Given the description of an element on the screen output the (x, y) to click on. 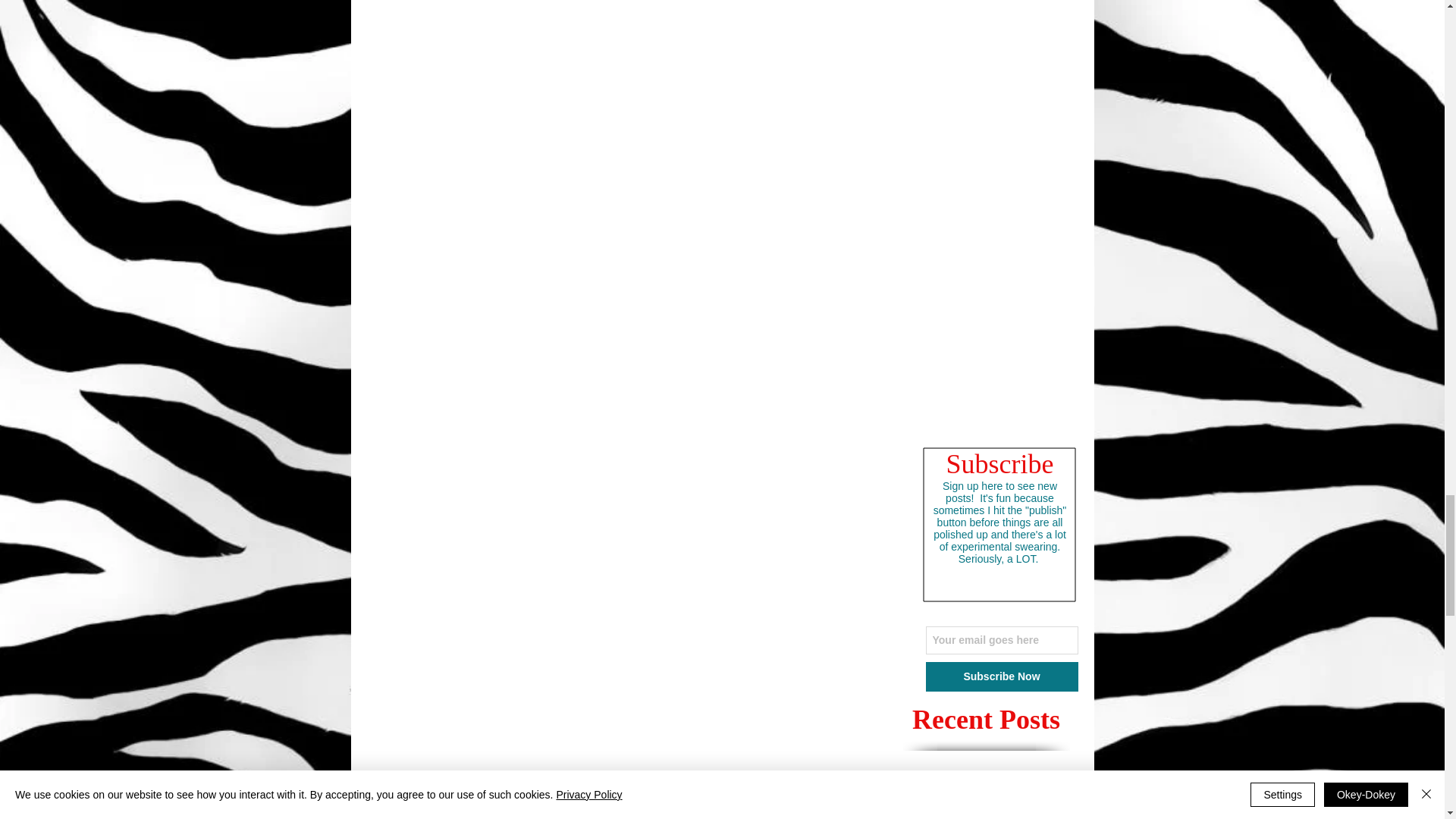
Dick Candles and Fridge Chickens May Cause Dementia (1004, 797)
Subscribe Now (1000, 676)
